Given the description of an element on the screen output the (x, y) to click on. 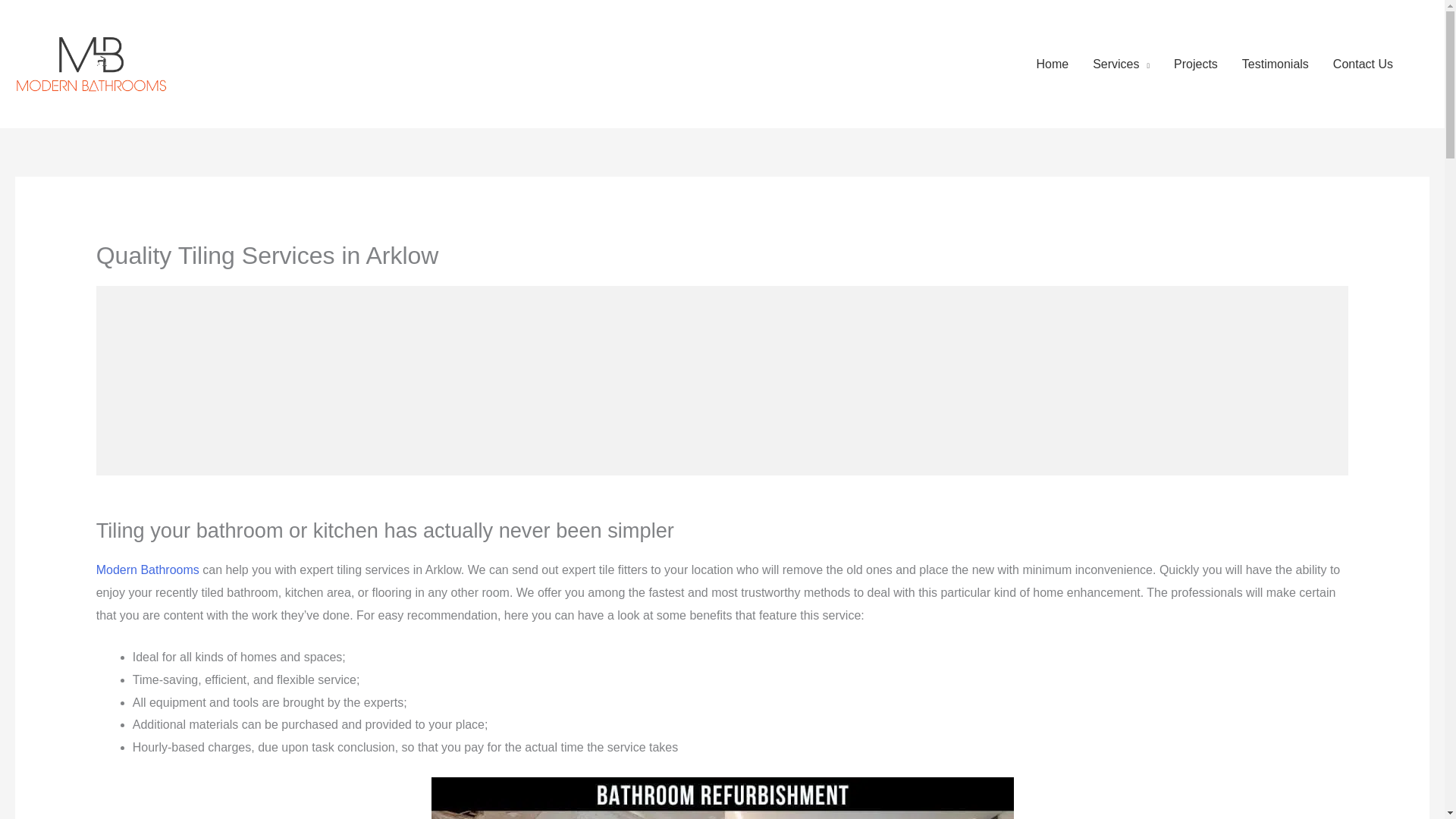
Projects (1195, 63)
Services (1120, 63)
Testimonials (1275, 63)
Home (1051, 63)
Modern Bathrooms (147, 569)
Contact Us (1362, 63)
